Given the description of an element on the screen output the (x, y) to click on. 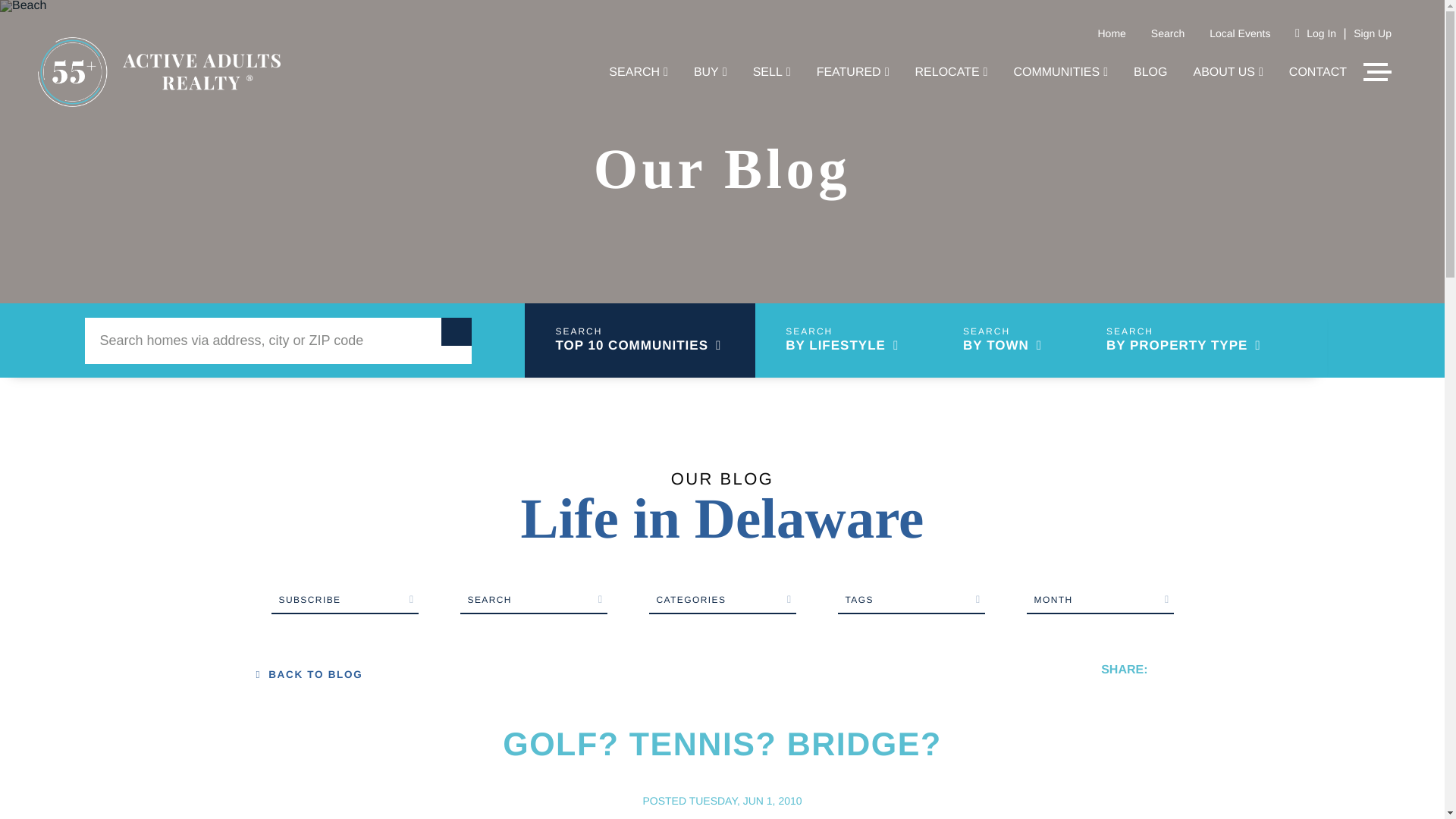
Home (1111, 33)
SELL (771, 72)
COMMUNITIES (1060, 72)
Sign Up (1372, 33)
BUY (710, 72)
ABOUT US (1228, 72)
Local Events (1239, 33)
FEATURED (852, 72)
RELOCATE (951, 72)
SEARCH (638, 72)
